Given the description of an element on the screen output the (x, y) to click on. 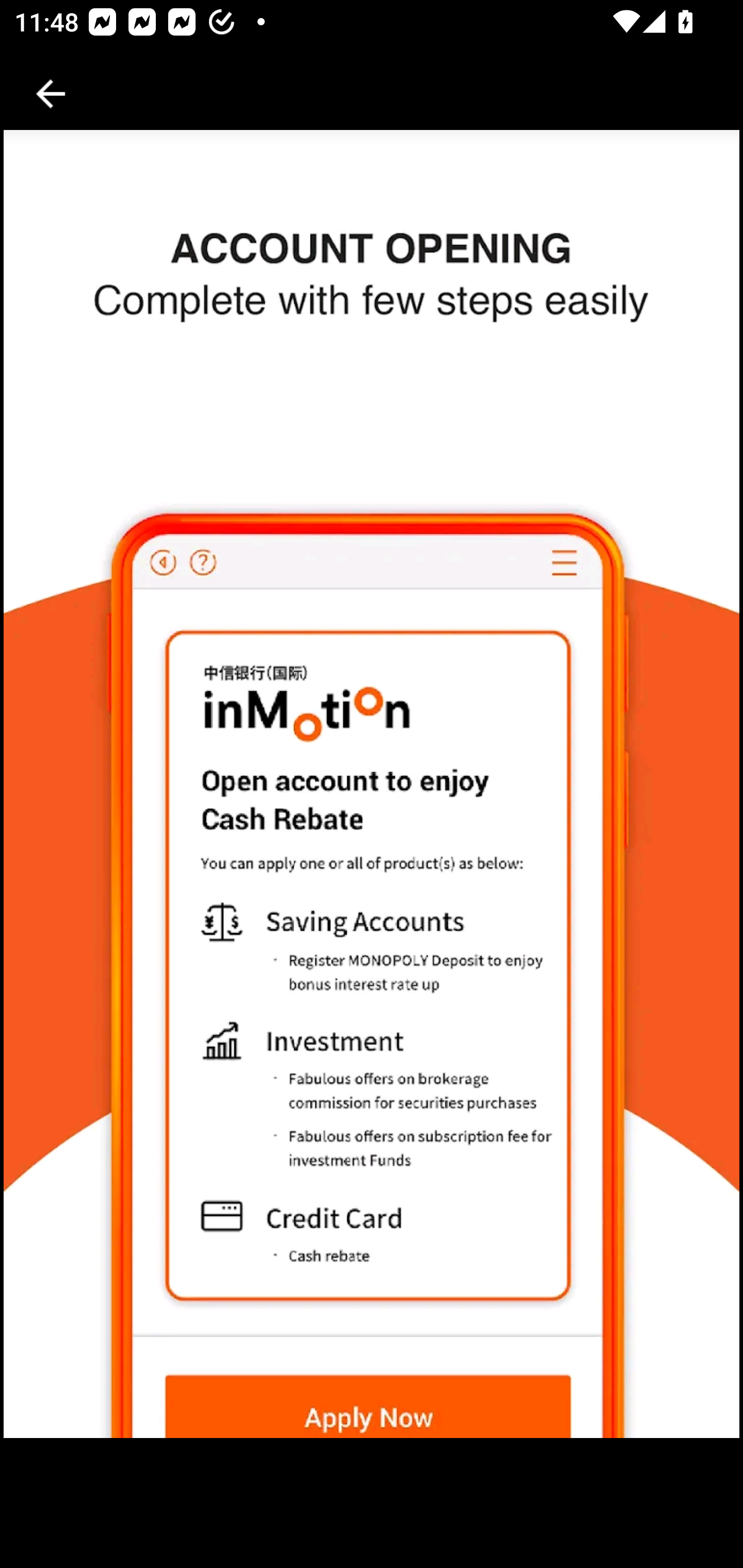
Back (50, 93)
